Given the description of an element on the screen output the (x, y) to click on. 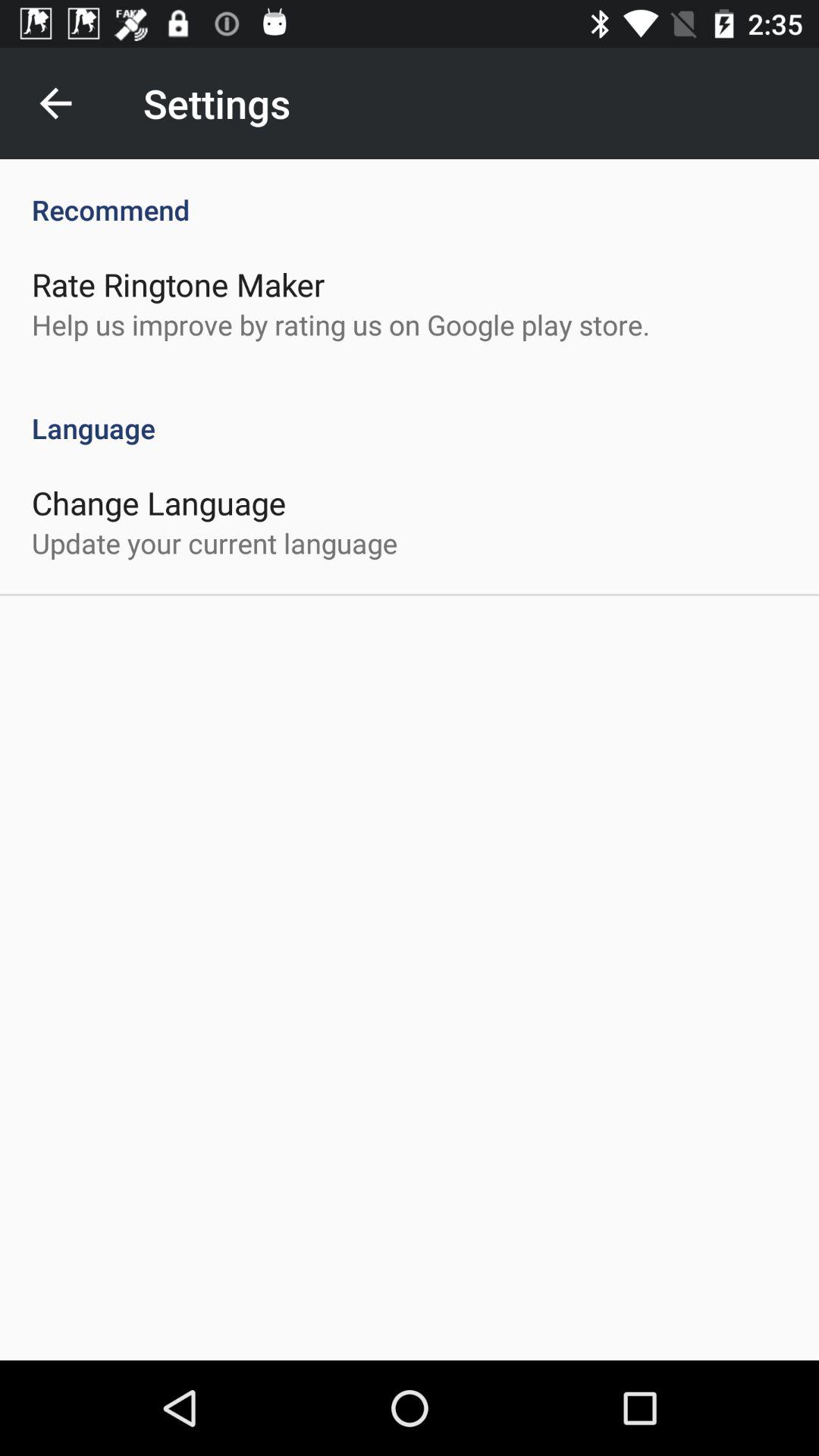
open change language item (158, 502)
